Given the description of an element on the screen output the (x, y) to click on. 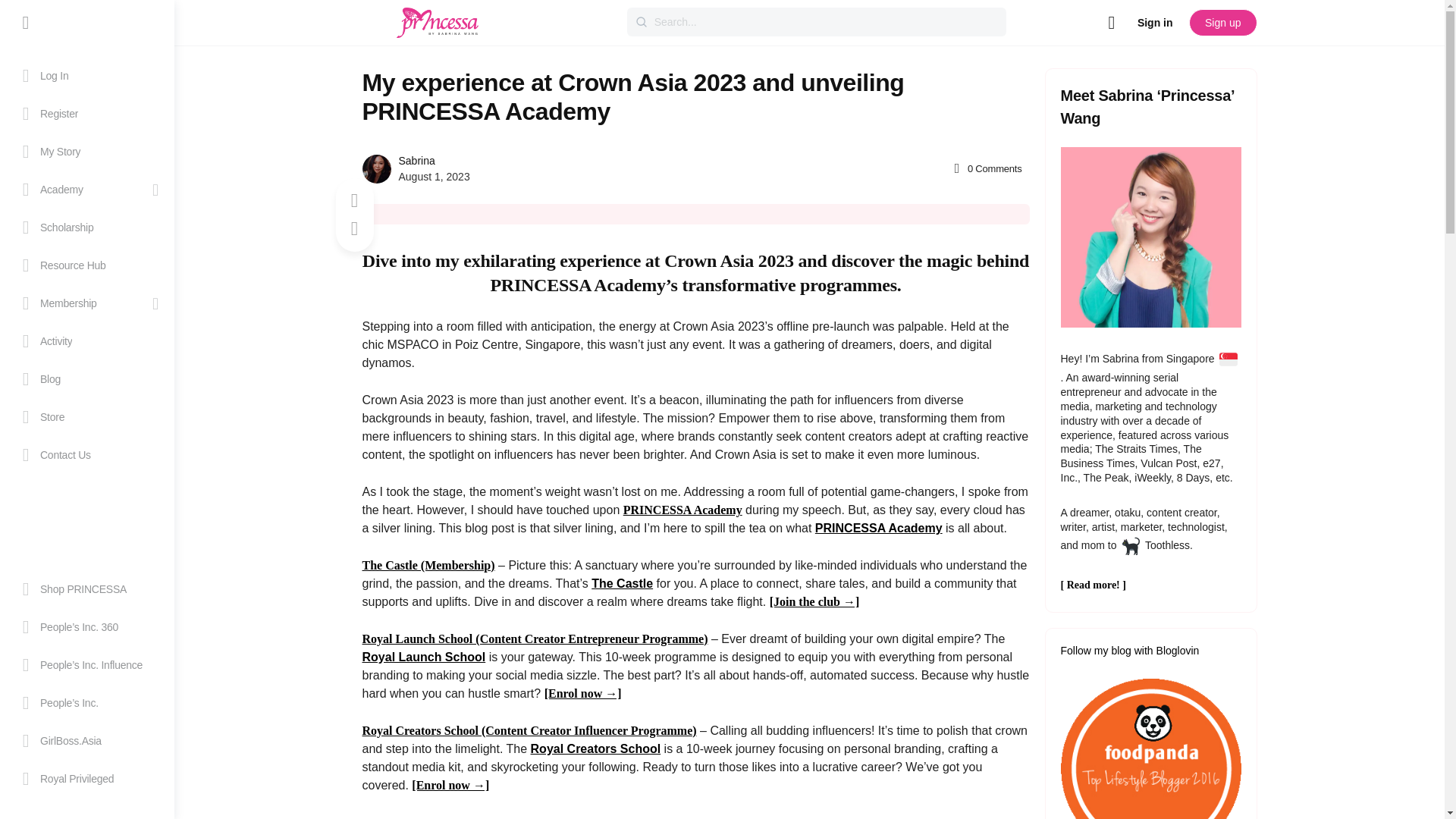
Contact Us (87, 454)
The Castle (87, 303)
Membership (87, 303)
Activity (87, 341)
GirlBoss.Asia (87, 740)
My Story (87, 151)
Resource Hub (87, 265)
Log In (87, 75)
Academy (87, 189)
Scholarship (87, 227)
Sign up (1222, 22)
Royal Privileged (87, 778)
Shop PRINCESSA (87, 589)
Blog (87, 379)
Sign in (1155, 22)
